Given the description of an element on the screen output the (x, y) to click on. 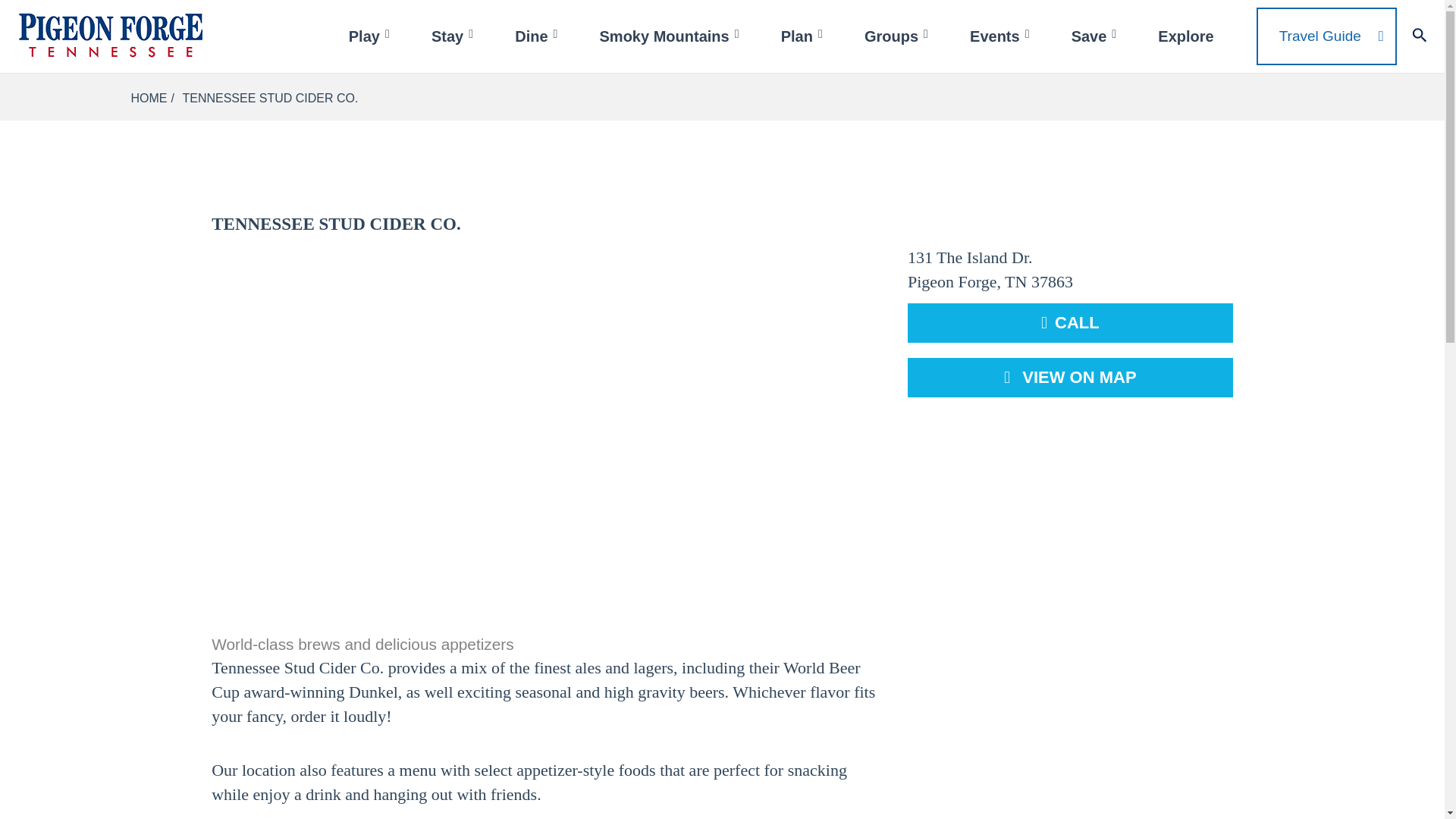
Stay (454, 36)
Dine (537, 36)
Play (371, 36)
Smoky Mountains (670, 36)
